Given the description of an element on the screen output the (x, y) to click on. 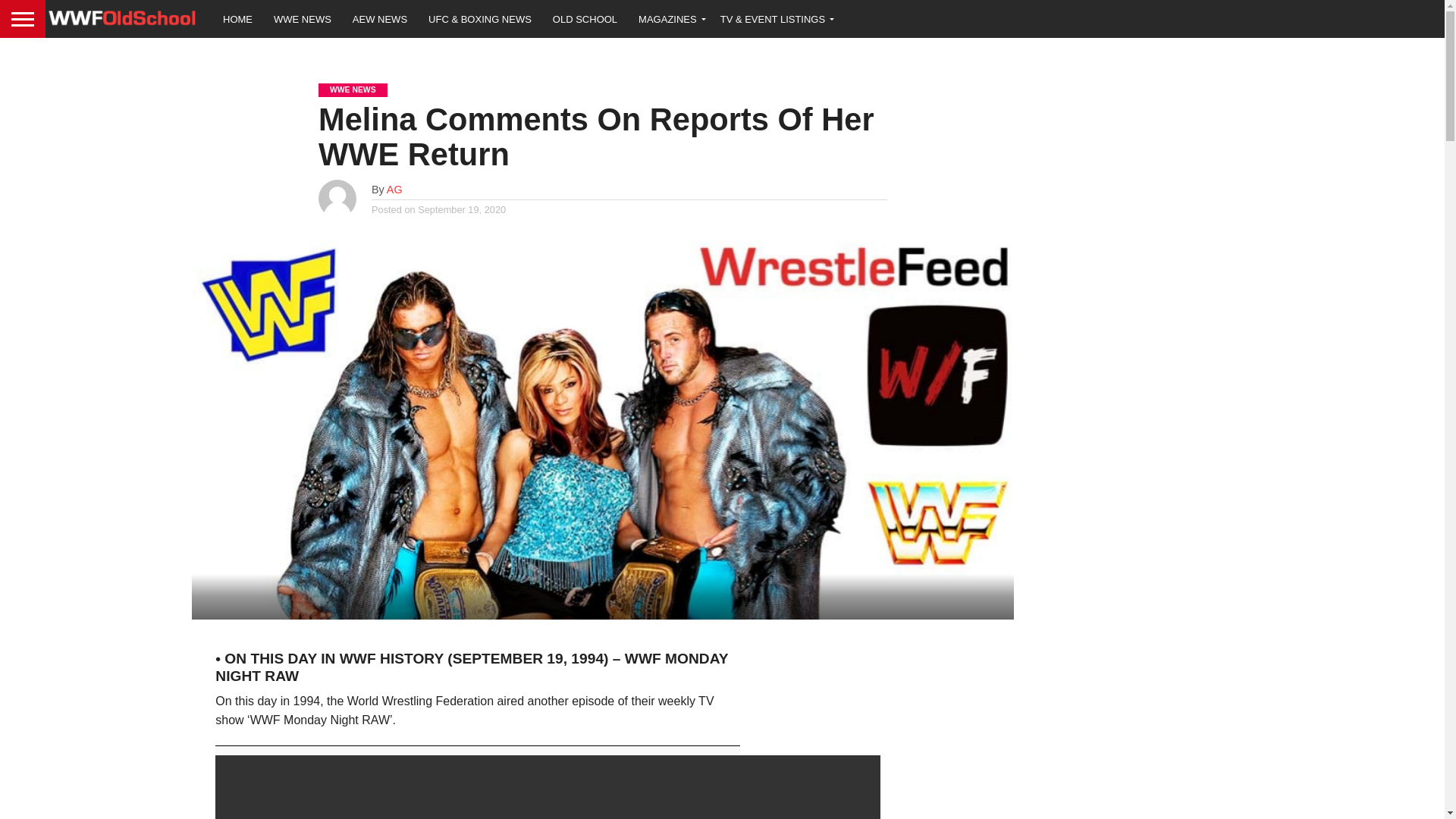
WWE NEWS (302, 18)
AEW NEWS (379, 18)
HOME (237, 18)
Posts by AG (395, 189)
MAGAZINES (668, 18)
OLD SCHOOL (584, 18)
